Given the description of an element on the screen output the (x, y) to click on. 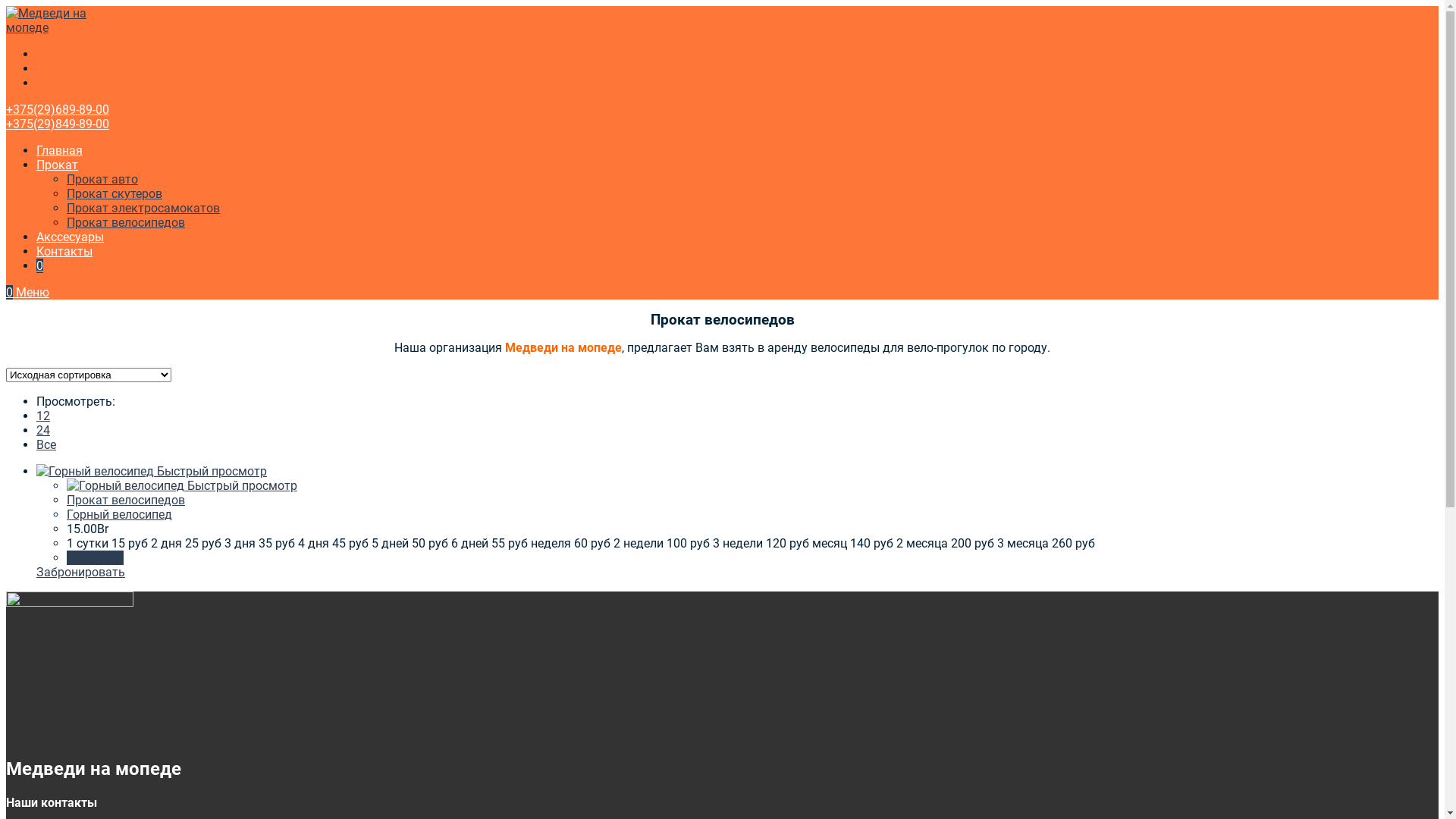
0 Element type: text (10, 292)
0 Element type: text (39, 265)
24 Element type: text (43, 430)
+375(29)689-89-00 Element type: text (57, 109)
12 Element type: text (43, 415)
+375(29)849-89-00 Element type: text (57, 123)
